Given the description of an element on the screen output the (x, y) to click on. 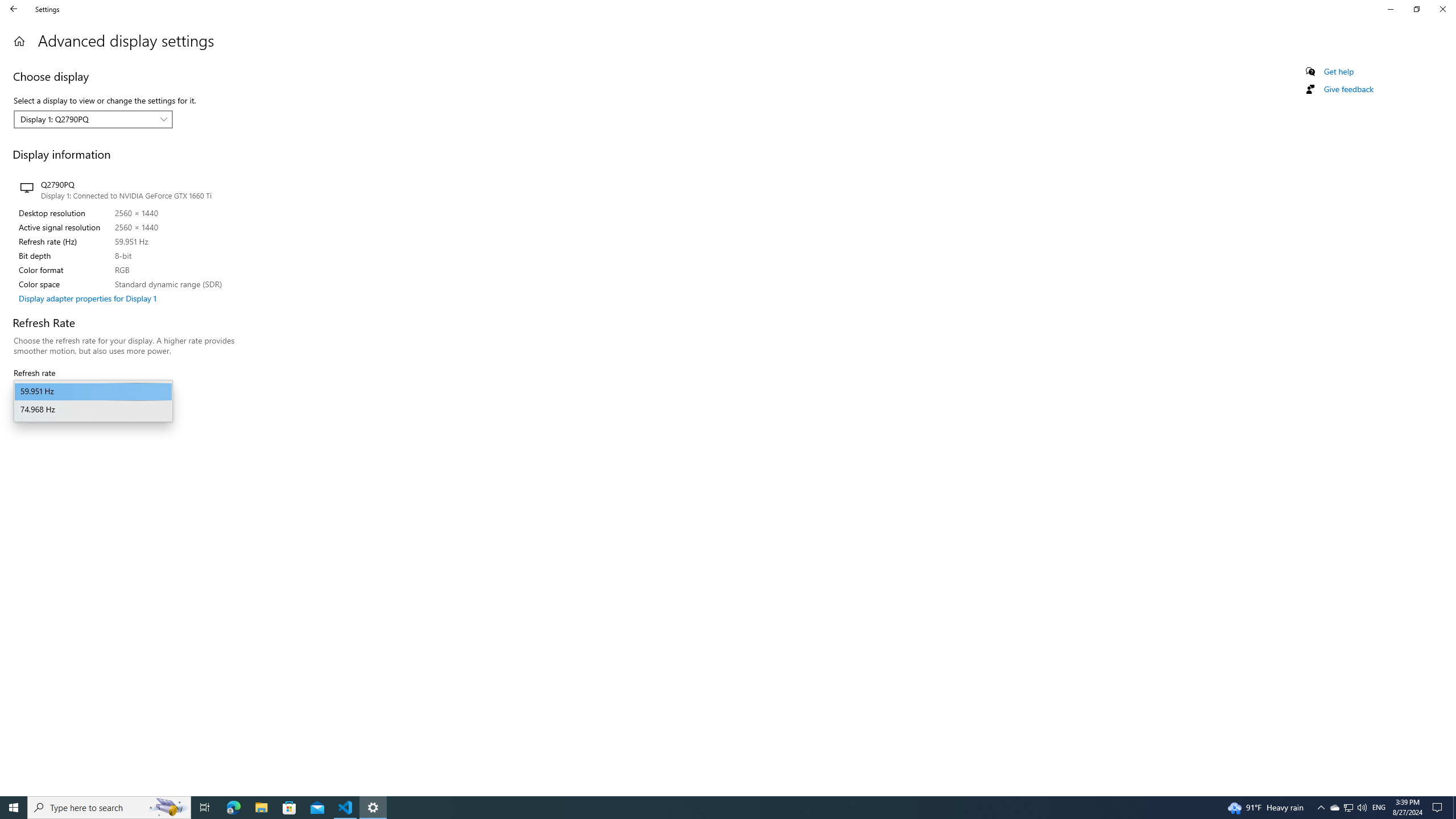
Microsoft Store (289, 807)
Action Center, No new notifications (1439, 807)
File Explorer (261, 807)
Refresh rate (93, 391)
Learn more (33, 412)
Show desktop (1454, 807)
Home (19, 40)
Restore Settings (1416, 9)
Microsoft Edge (233, 807)
Start (13, 807)
Close Settings (1442, 9)
User Promoted Notification Area (1347, 807)
Display adapter properties for Display 1 (1347, 807)
